Given the description of an element on the screen output the (x, y) to click on. 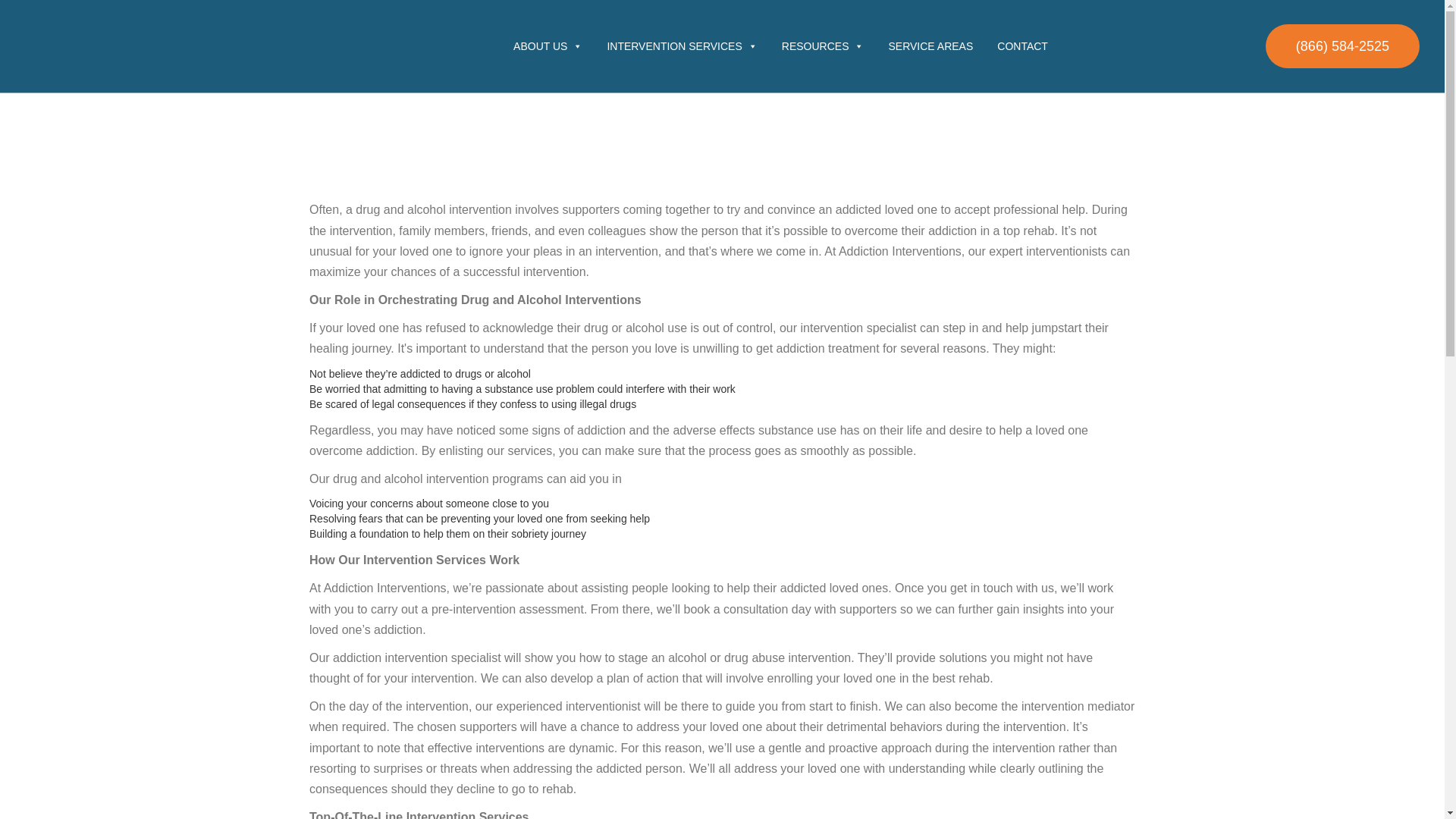
SERVICE AREAS (930, 46)
RESOURCES (823, 46)
ABOUT US (547, 46)
INTERVENTION SERVICES (681, 46)
CONTACT (1022, 46)
